Given the description of an element on the screen output the (x, y) to click on. 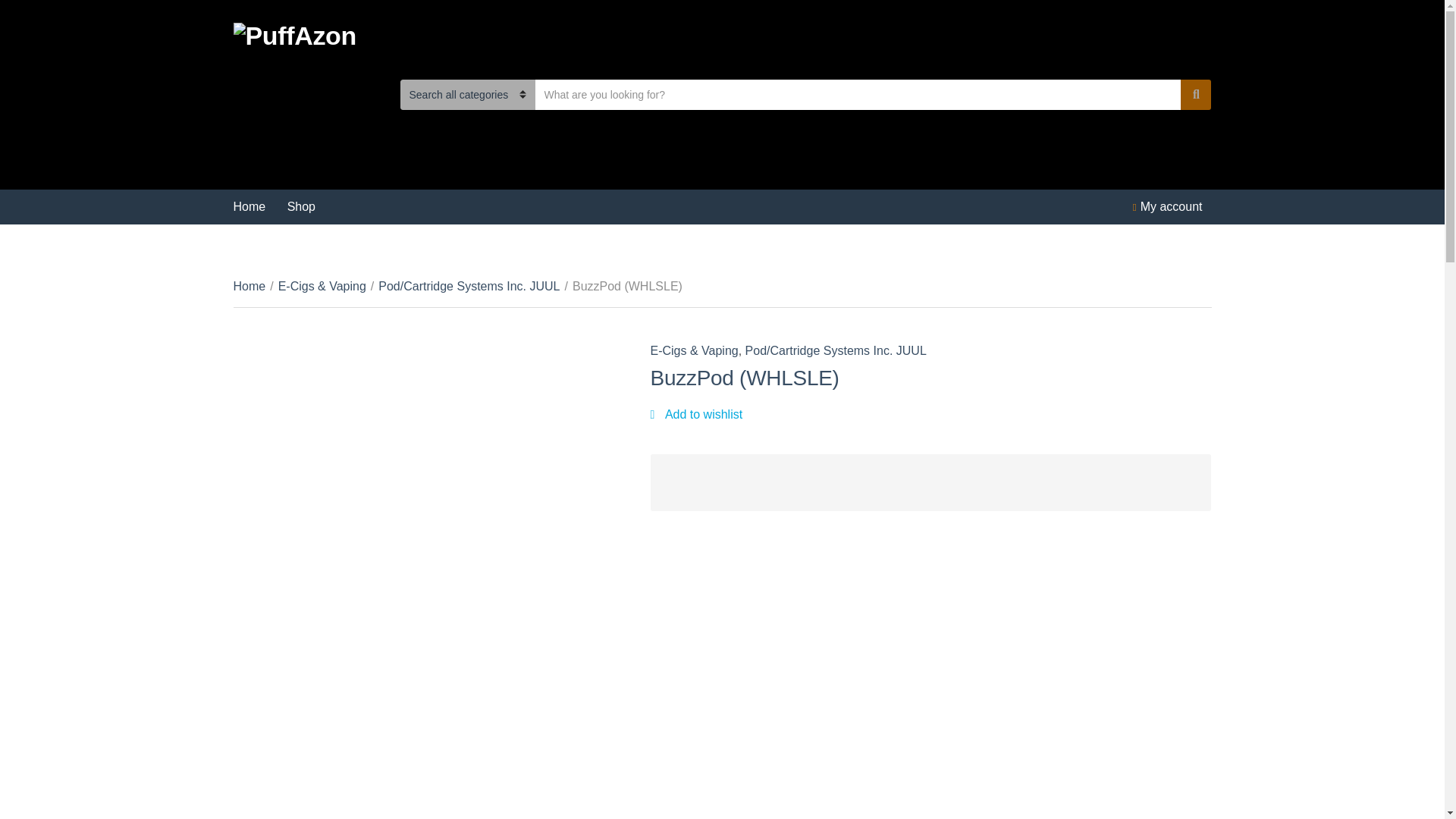
Add to wishlist (696, 413)
Search (1195, 94)
My account (1171, 206)
Home (249, 286)
Home (249, 206)
